Given the description of an element on the screen output the (x, y) to click on. 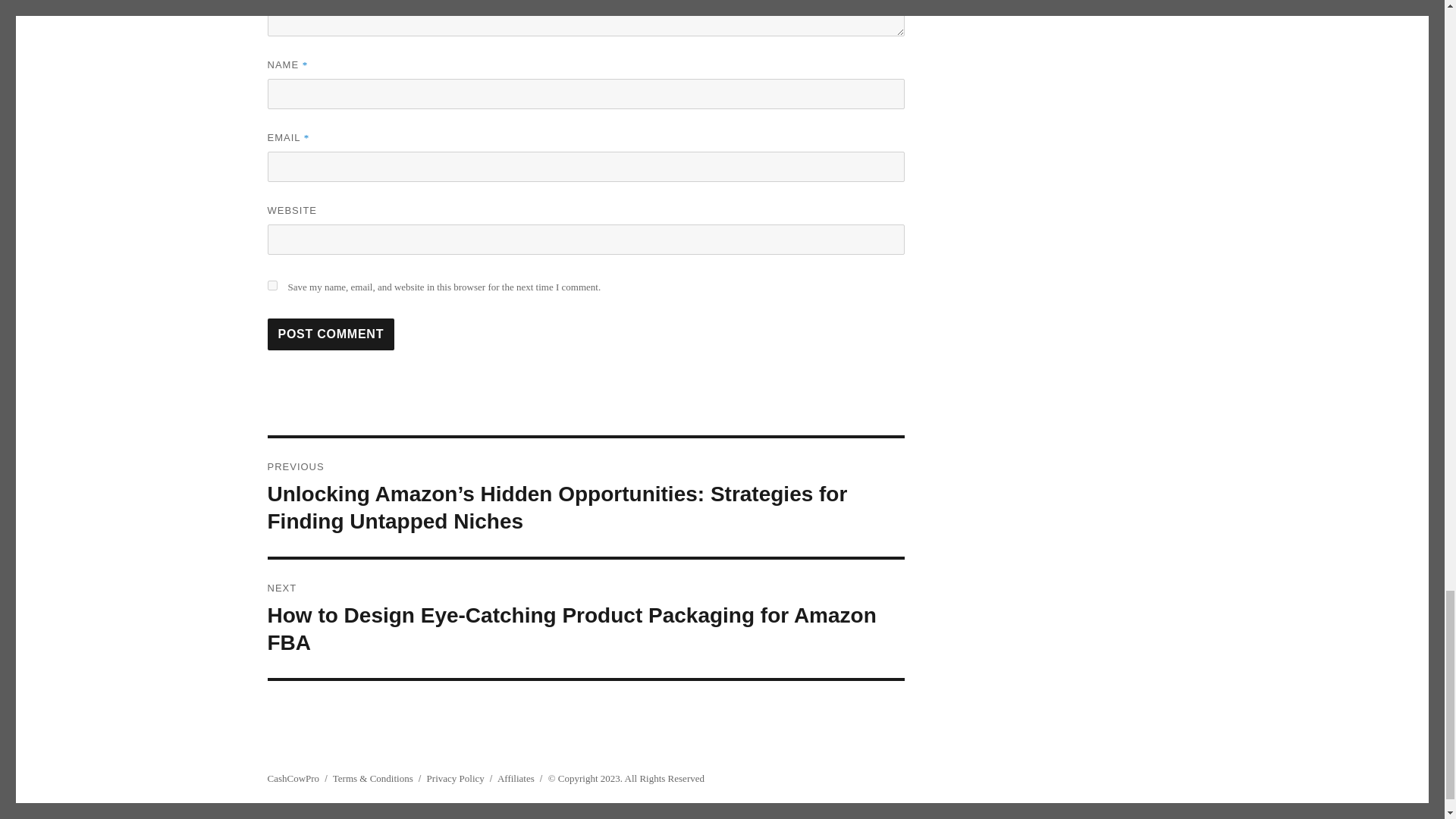
yes (271, 285)
Post Comment (330, 334)
Post Comment (330, 334)
